Given the description of an element on the screen output the (x, y) to click on. 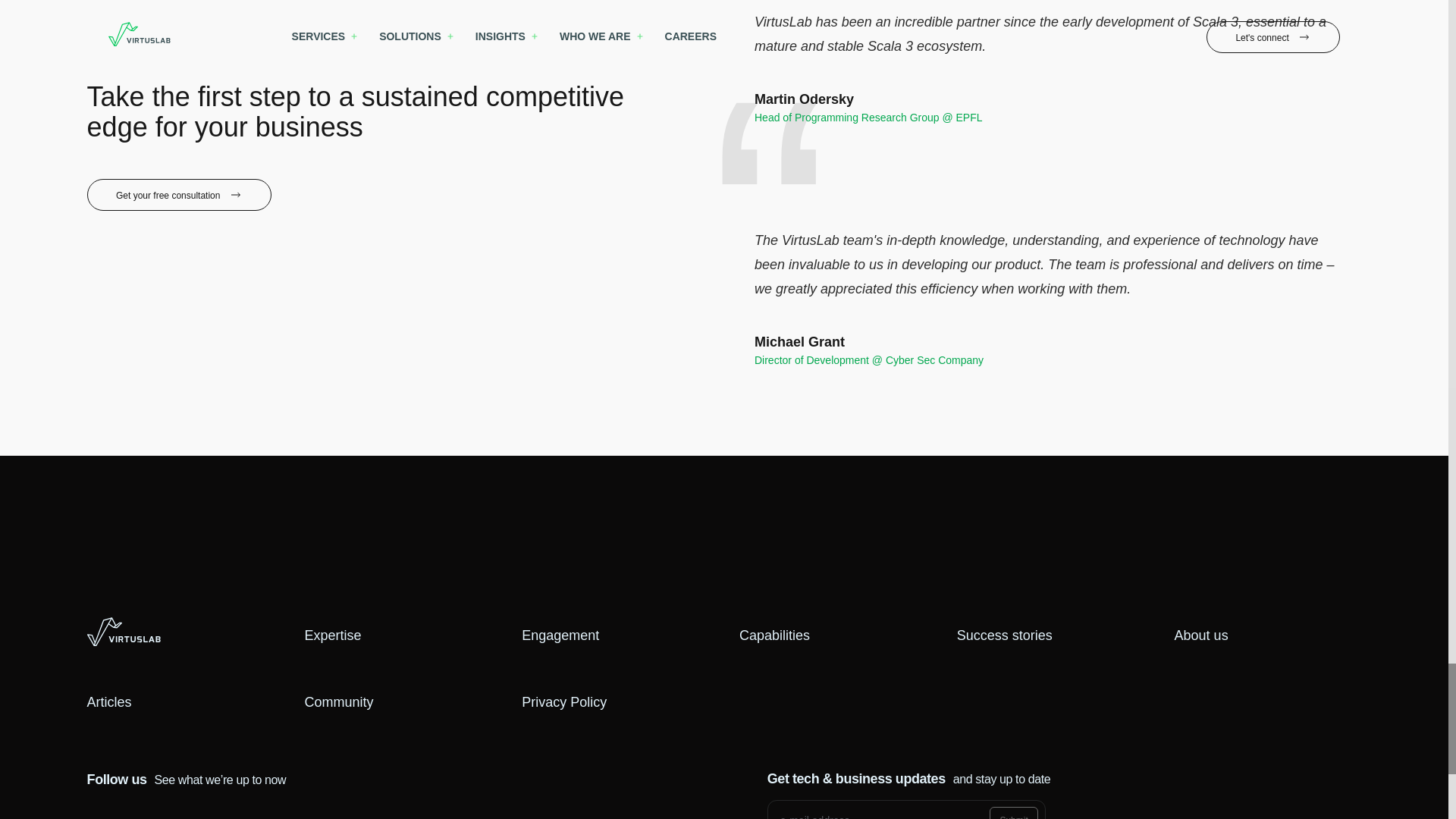
Homepage (123, 631)
